Given the description of an element on the screen output the (x, y) to click on. 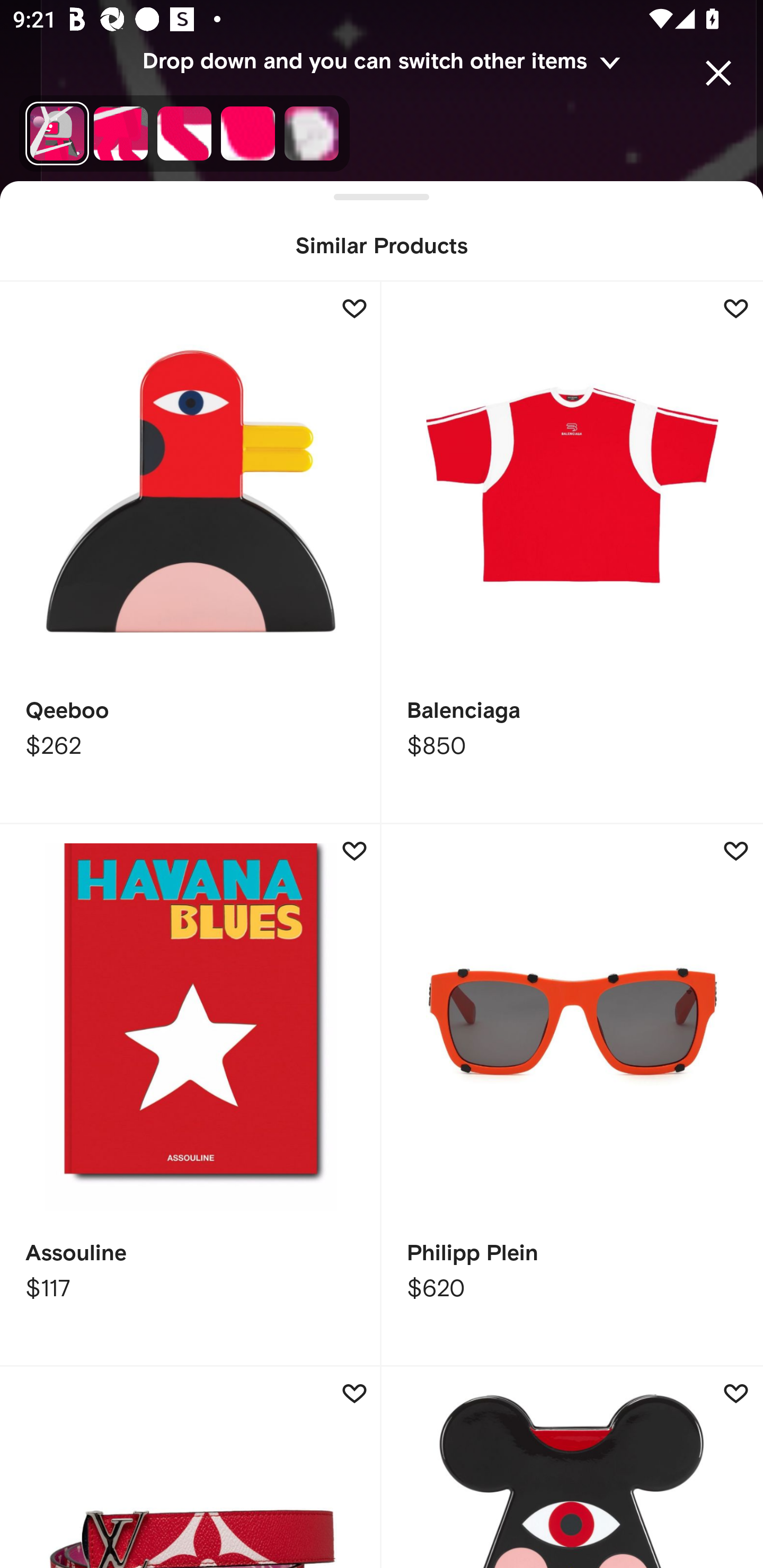
Qeeboo $262 (190, 553)
Balenciaga $850 (572, 553)
Assouline $117 (190, 1095)
Philipp Plein $620 (572, 1095)
